Given the description of an element on the screen output the (x, y) to click on. 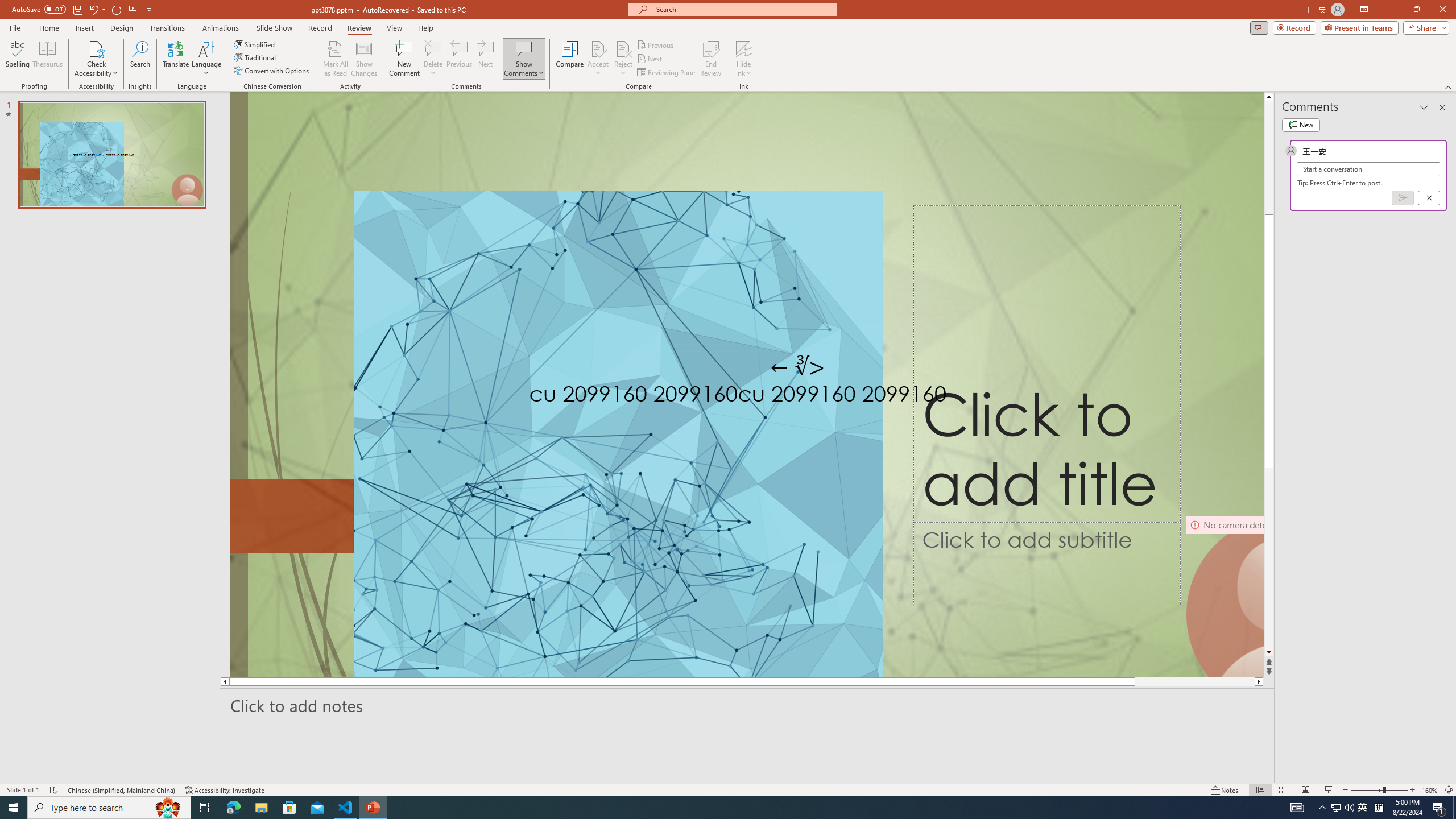
Next (649, 58)
Page down (1268, 535)
Title TextBox (1046, 364)
Reject Change (622, 48)
Delete (432, 58)
